Given the description of an element on the screen output the (x, y) to click on. 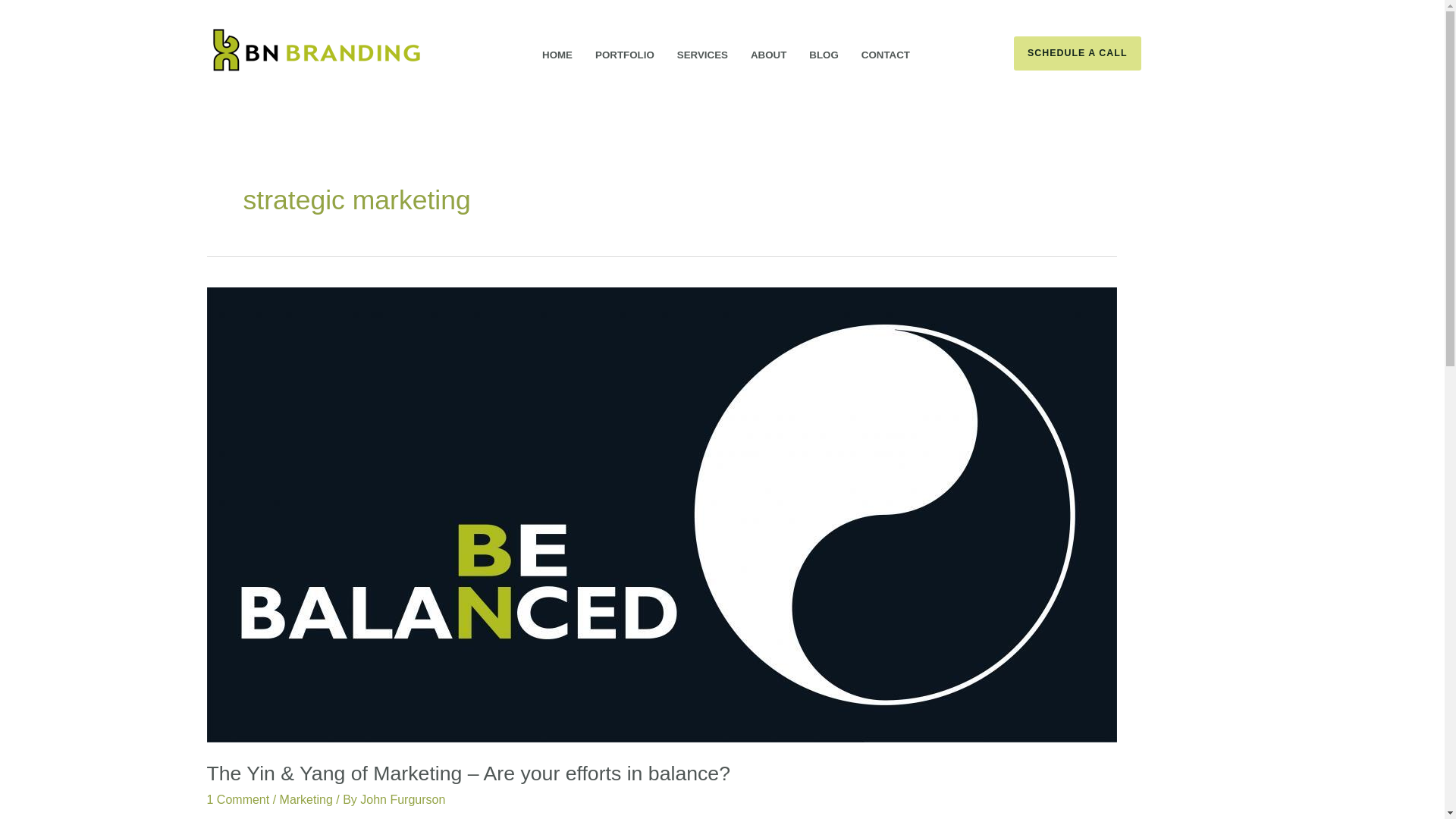
Marketing (306, 799)
SCHEDULE A CALL (1124, 53)
John Furgurson (402, 799)
1 Comment (237, 799)
View all posts by John Furgurson (402, 799)
